Given the description of an element on the screen output the (x, y) to click on. 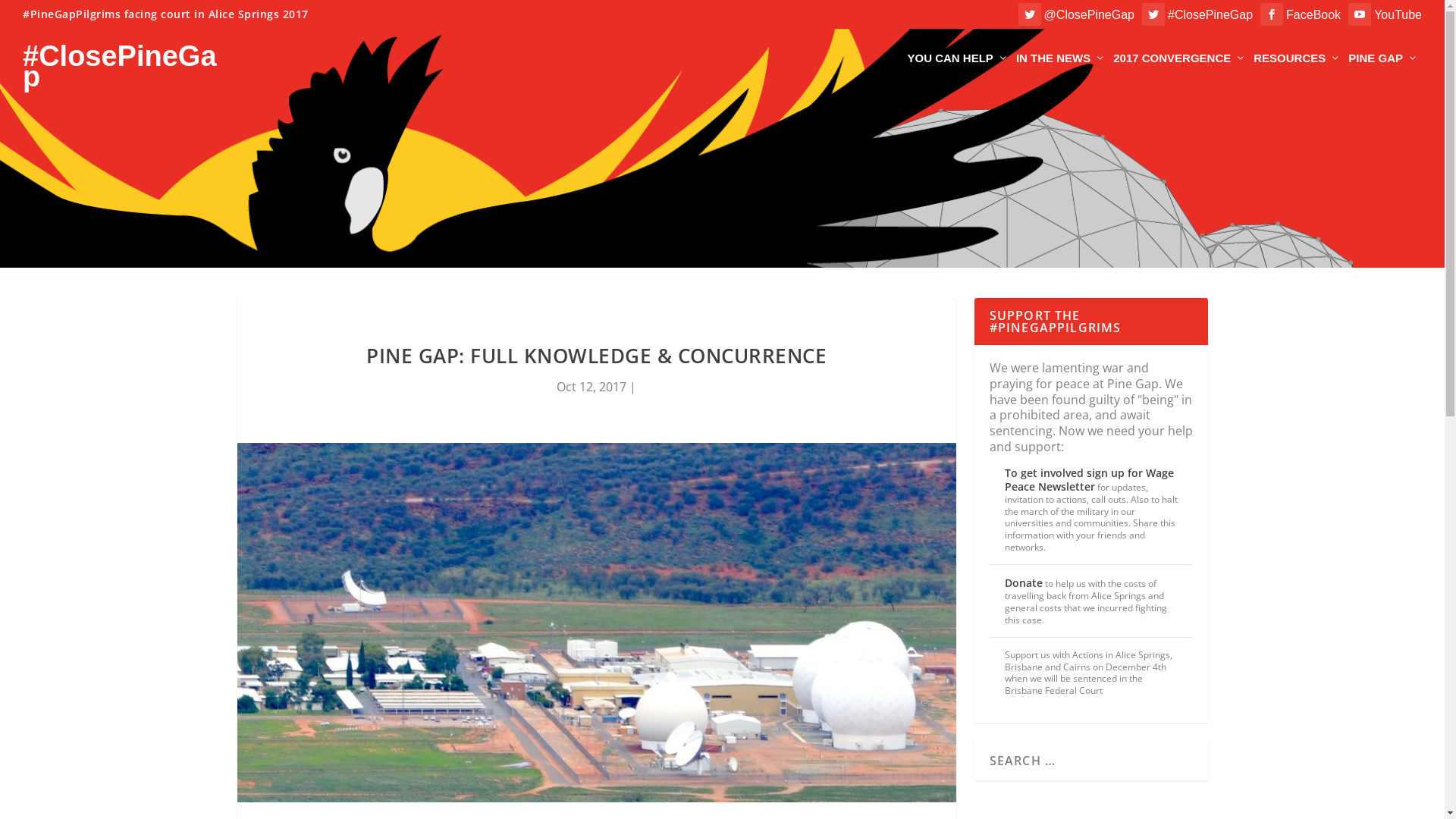
@ClosePineGap Element type: text (1089, 14)
YouTube Element type: text (1397, 14)
PINE GAP Element type: text (1383, 70)
Donate Element type: text (1022, 582)
FaceBook Element type: text (1313, 14)
IN THE NEWS Element type: text (1060, 70)
Search Element type: text (32, 15)
2017 CONVERGENCE Element type: text (1179, 70)
To get involved sign up for Wage Peace Newsletter Element type: text (1088, 479)
#ClosePineGap Element type: text (127, 59)
#ClosePineGap Element type: text (1209, 14)
YOU CAN HELP Element type: text (957, 70)
RESOURCES Element type: text (1296, 70)
